Given the description of an element on the screen output the (x, y) to click on. 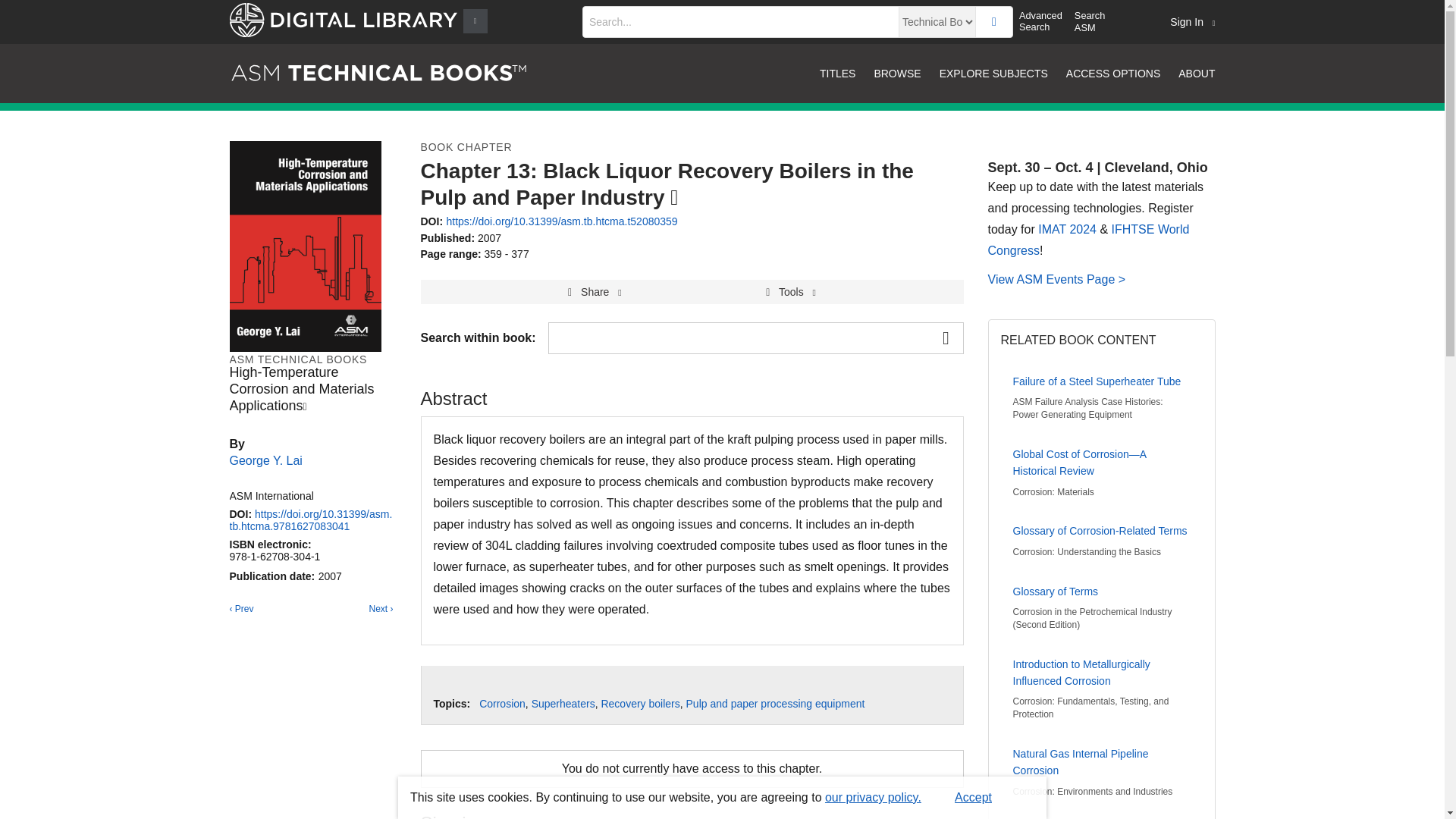
search input (740, 21)
Available to Purchase (304, 407)
Available to Purchase (673, 197)
